Given the description of an element on the screen output the (x, y) to click on. 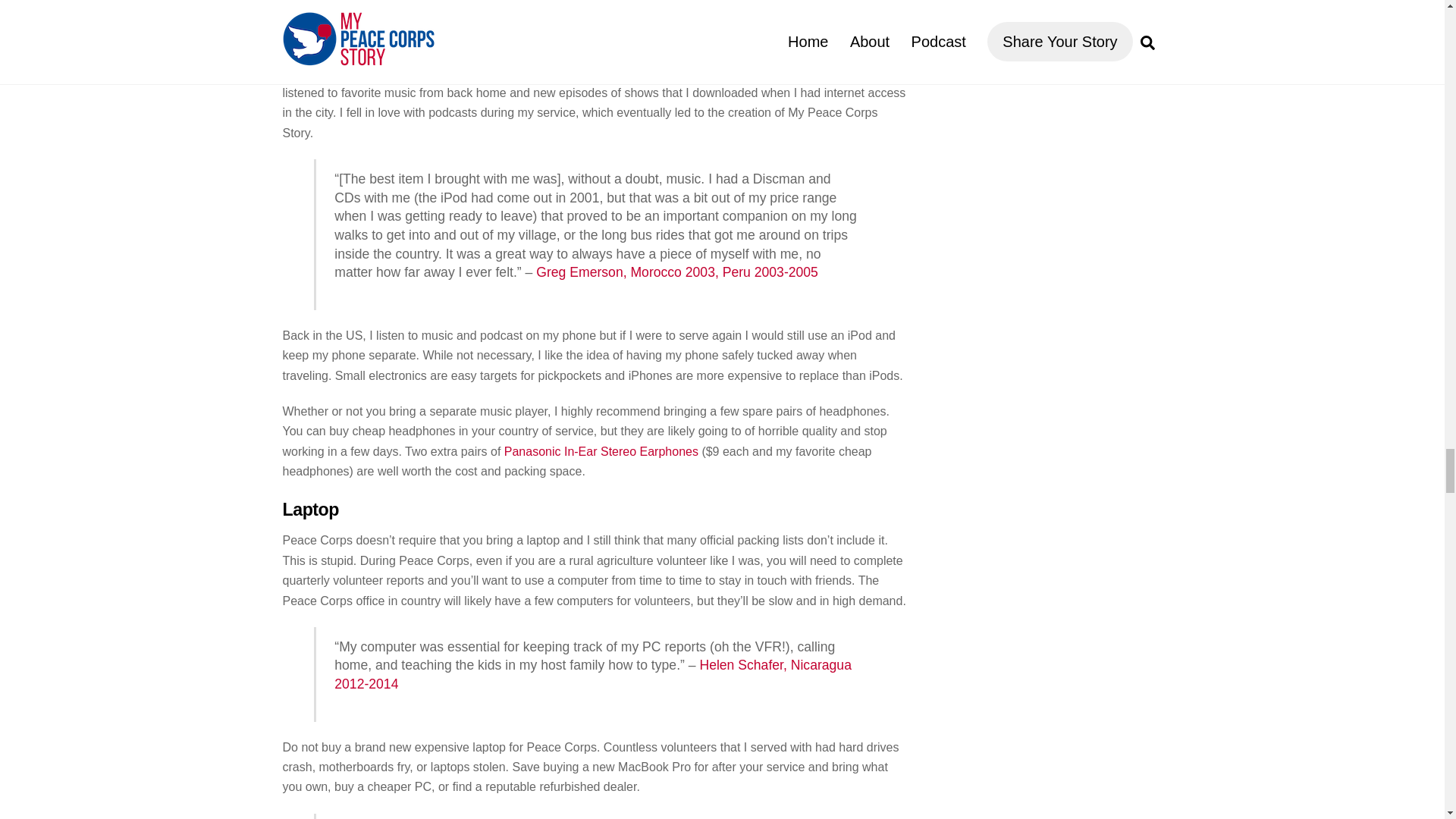
Panasonic In-Ear Stereo Earphones (600, 451)
Greg Emerson, Morocco 2003, Peru 2003-2005 (676, 272)
Helen Schafer, Nicaragua 2012-2014 (592, 674)
